Given the description of an element on the screen output the (x, y) to click on. 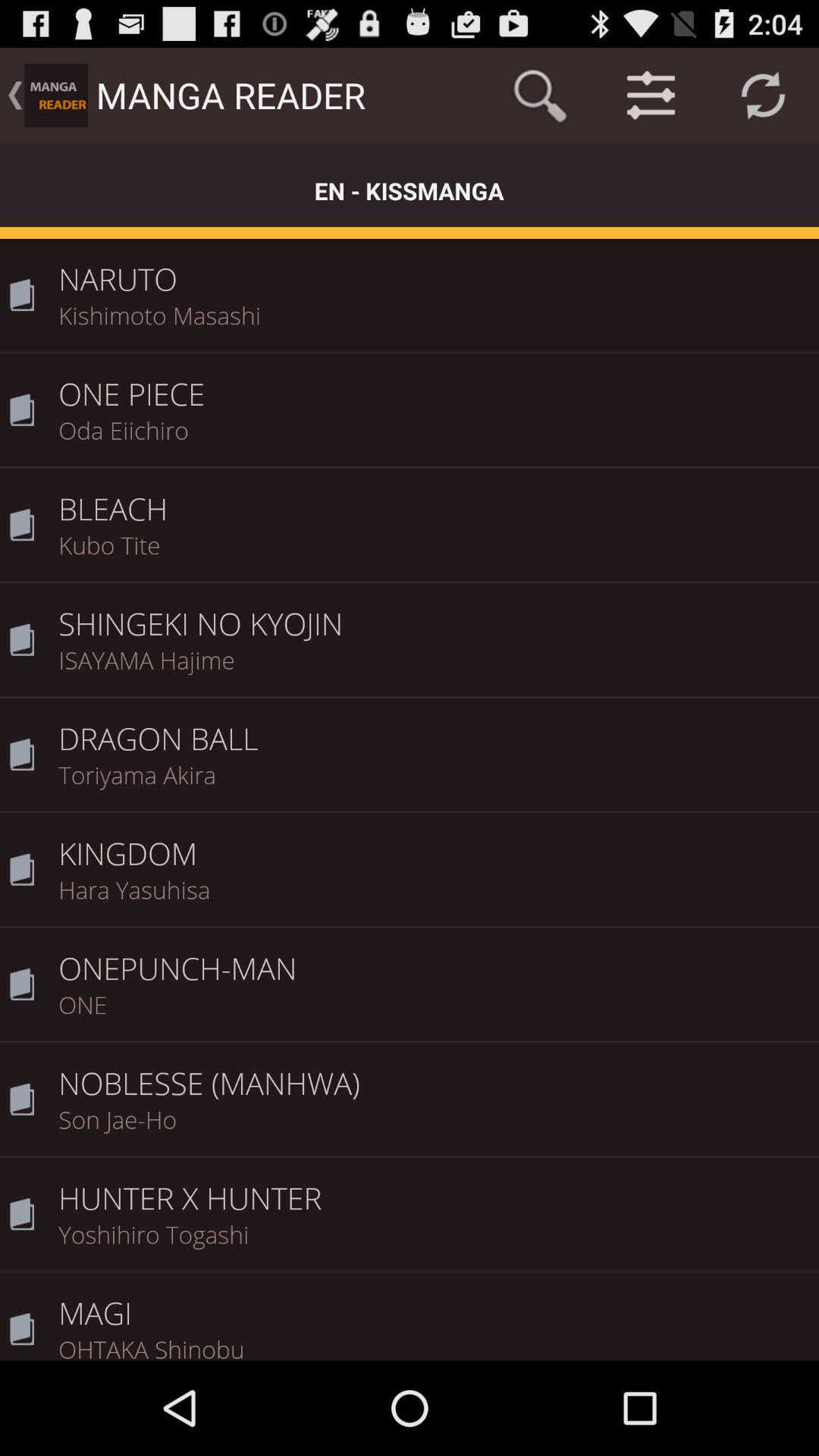
launch the item above toriyama akira icon (433, 728)
